Given the description of an element on the screen output the (x, y) to click on. 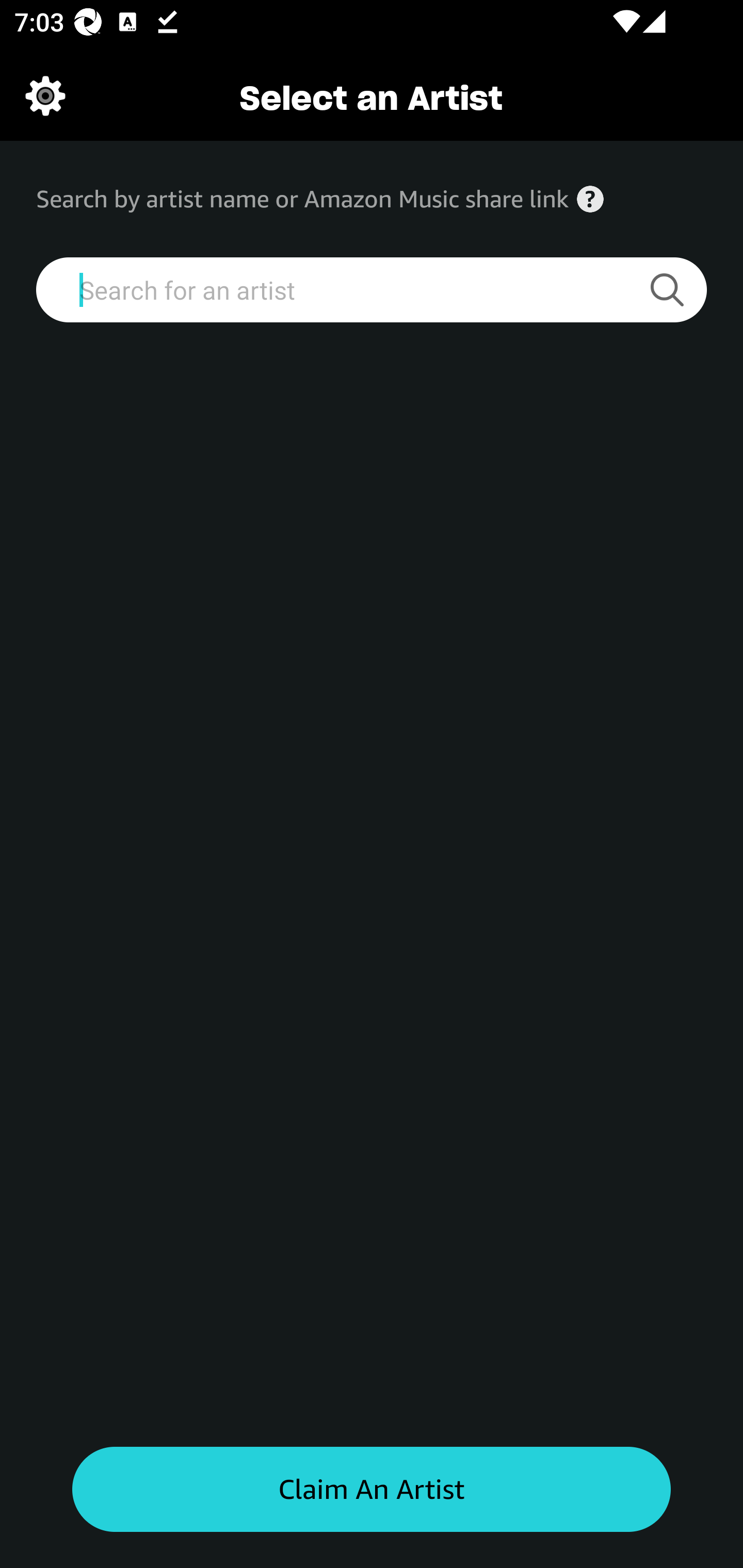
Help  icon (589, 199)
Claim an artist button Claim An Artist (371, 1489)
